Given the description of an element on the screen output the (x, y) to click on. 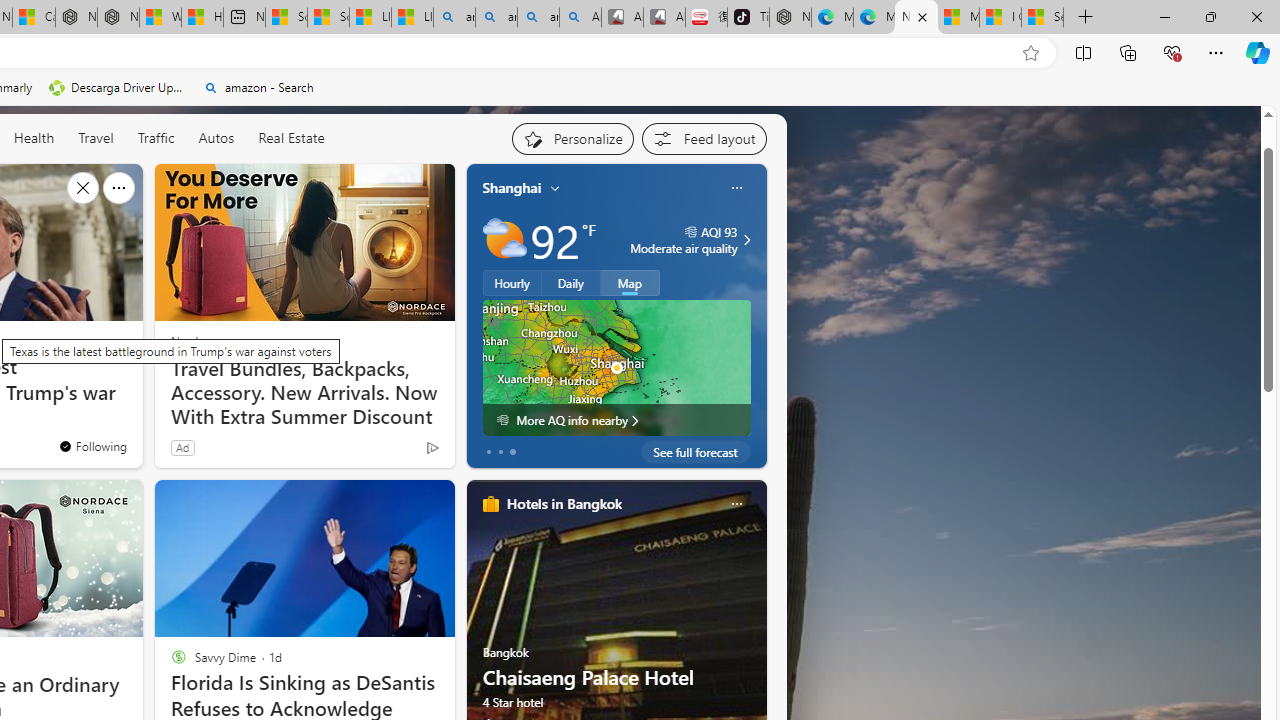
amazon - Search Images (538, 17)
Feed settings (703, 138)
Shanghai (511, 188)
Nordace - Best Sellers (790, 17)
tab-1 (500, 451)
All Cubot phones (663, 17)
Daily (571, 282)
aqi-icon AQI 93 Moderate air quality (683, 239)
Traffic (155, 138)
I Gained 20 Pounds of Muscle in 30 Days! | Watch (1000, 17)
Real Estate (290, 138)
